Given the description of an element on the screen output the (x, y) to click on. 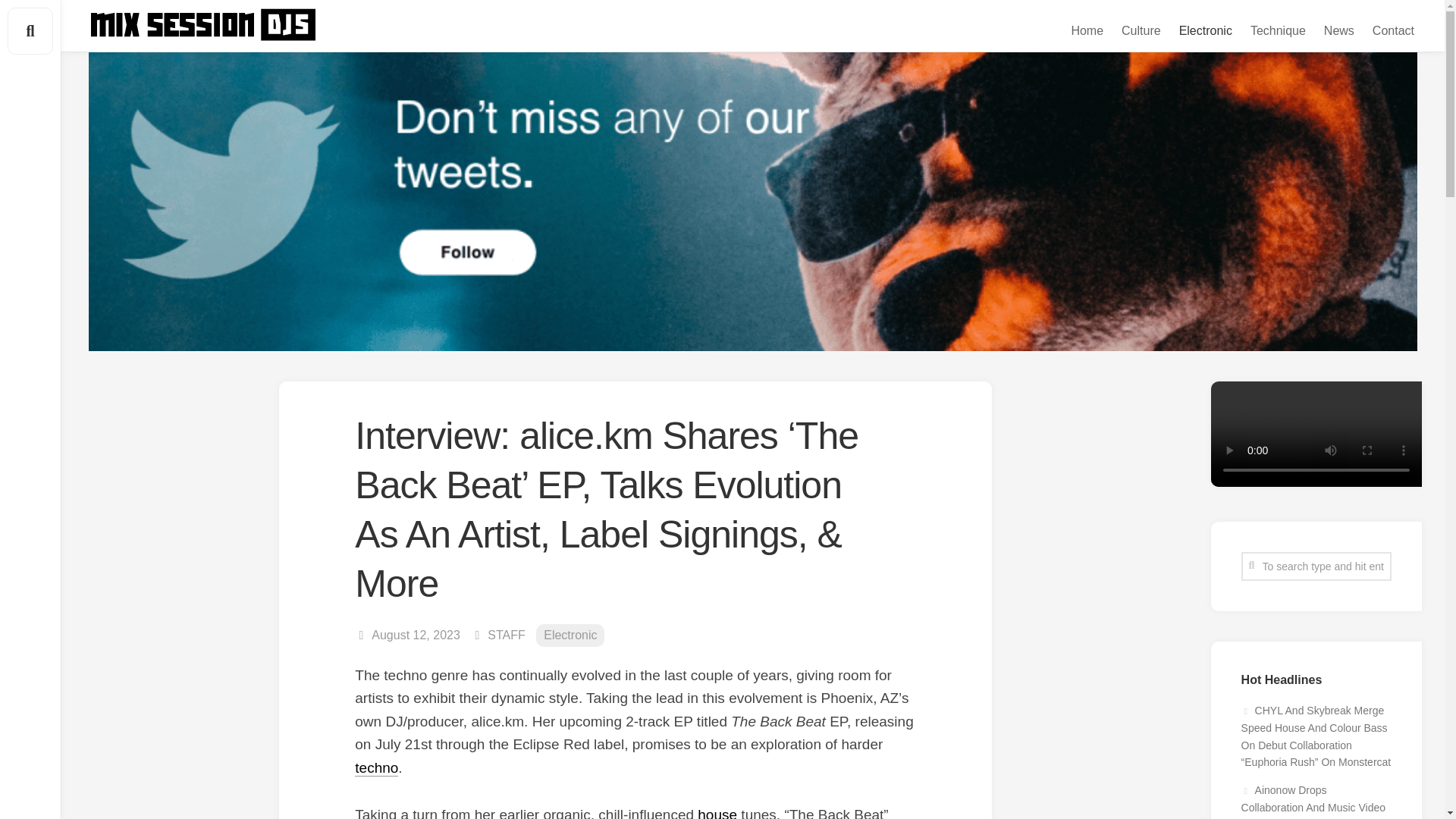
Posts by STAFF (505, 634)
house (716, 812)
To search type and hit enter (1316, 566)
To search type and hit enter (1316, 566)
STAFF (505, 634)
techno (376, 767)
Contact (1393, 30)
Electronic (569, 635)
Electronic (1205, 30)
Culture (1140, 30)
